Given the description of an element on the screen output the (x, y) to click on. 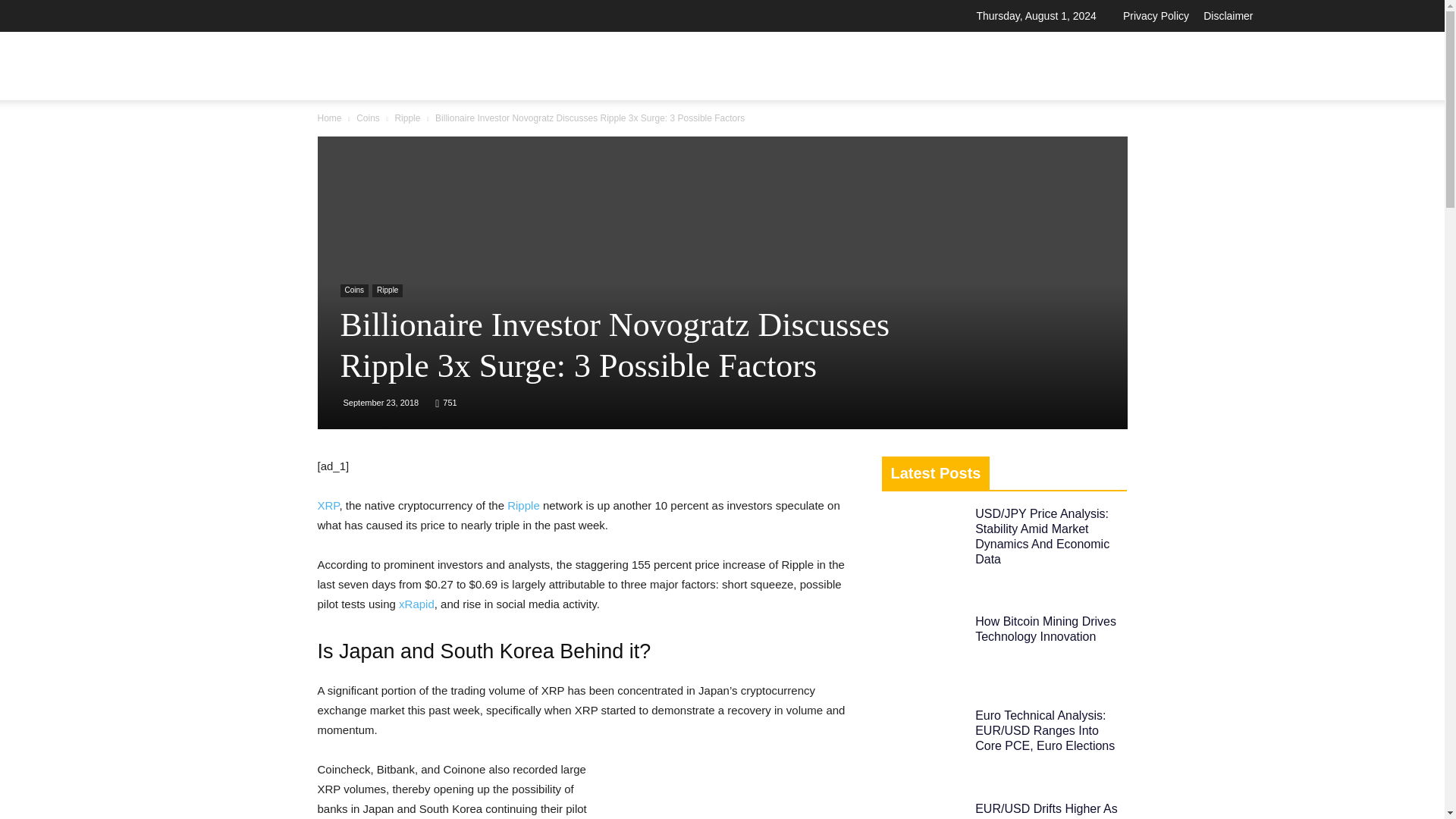
Disclaimer (1228, 15)
Search (1210, 142)
Broker Review (797, 61)
Home (328, 118)
Coins (353, 290)
Todays Forex News (279, 61)
Contact (1173, 61)
XRP (328, 504)
Forex News (894, 61)
View all posts in Coins (368, 118)
xRapid (415, 603)
Coins (368, 118)
Ripple (407, 118)
Learn Forex (981, 61)
